Given the description of an element on the screen output the (x, y) to click on. 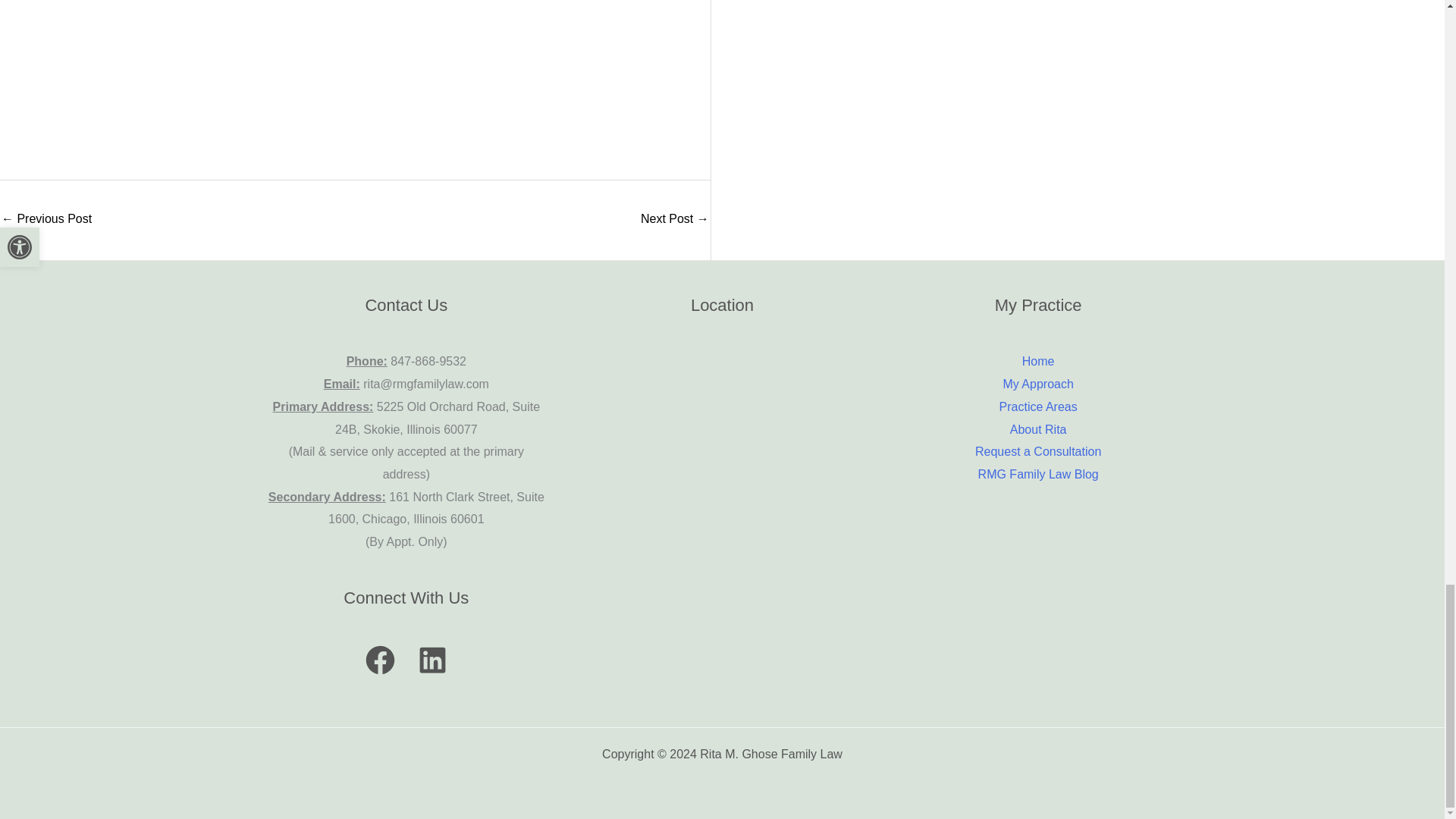
RMG Family Law Wishes You A Happy New Year (46, 220)
